Given the description of an element on the screen output the (x, y) to click on. 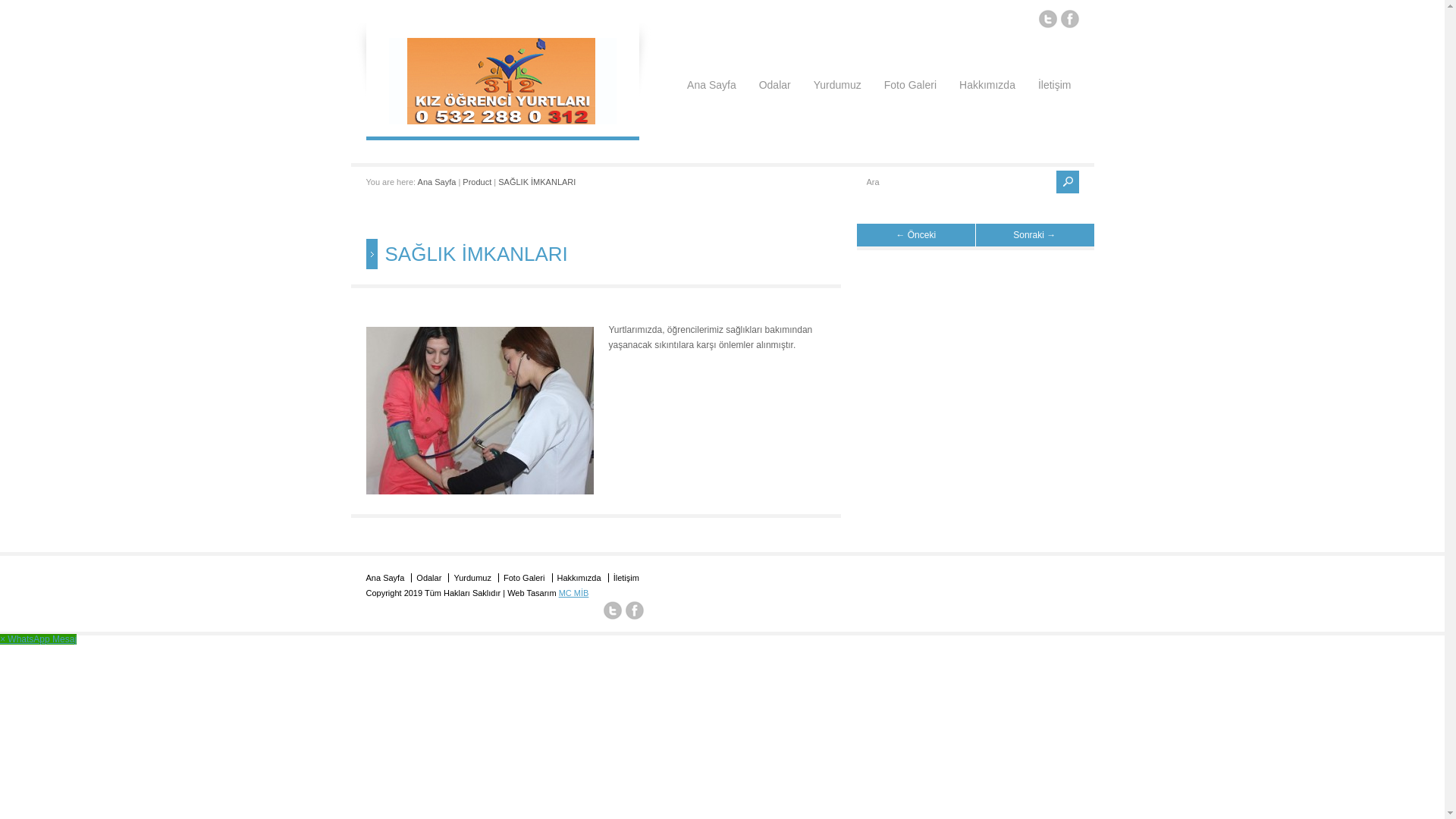
Yurdumuz Element type: text (472, 577)
Ana Sayfa Element type: text (436, 181)
Twitter Element type: hover (1047, 20)
Odalar Element type: text (774, 67)
Foto Galeri Element type: text (523, 577)
Twitter Element type: hover (612, 612)
Odalar Element type: text (428, 577)
Facebook Element type: hover (634, 612)
Ana Sayfa Element type: text (384, 577)
Product Element type: text (476, 181)
Facebook Element type: hover (1069, 20)
Ana Sayfa Element type: text (711, 67)
Yurdumuz Element type: text (837, 67)
Foto Galeri Element type: text (910, 67)
